Given the description of an element on the screen output the (x, y) to click on. 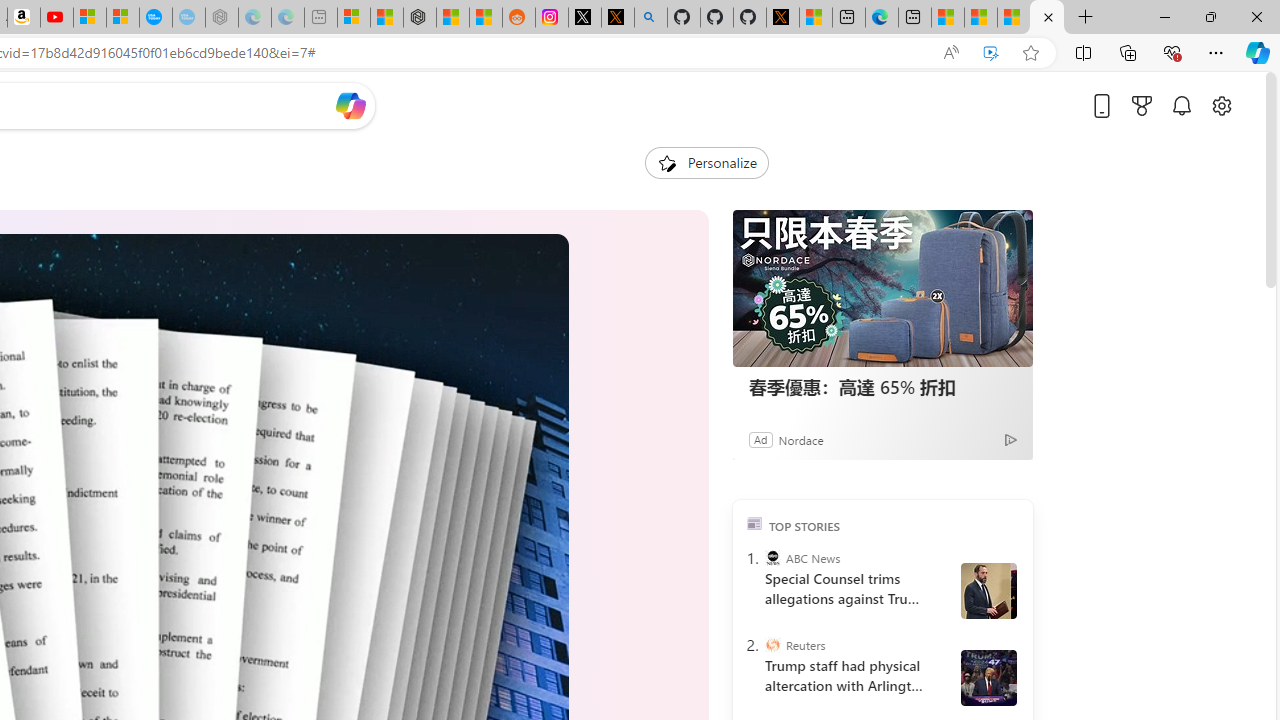
Log in to X / X (585, 17)
Notifications (1181, 105)
help.x.com | 524: A timeout occurred (617, 17)
Nordace - Duffels (420, 17)
Personalize (706, 162)
